Given the description of an element on the screen output the (x, y) to click on. 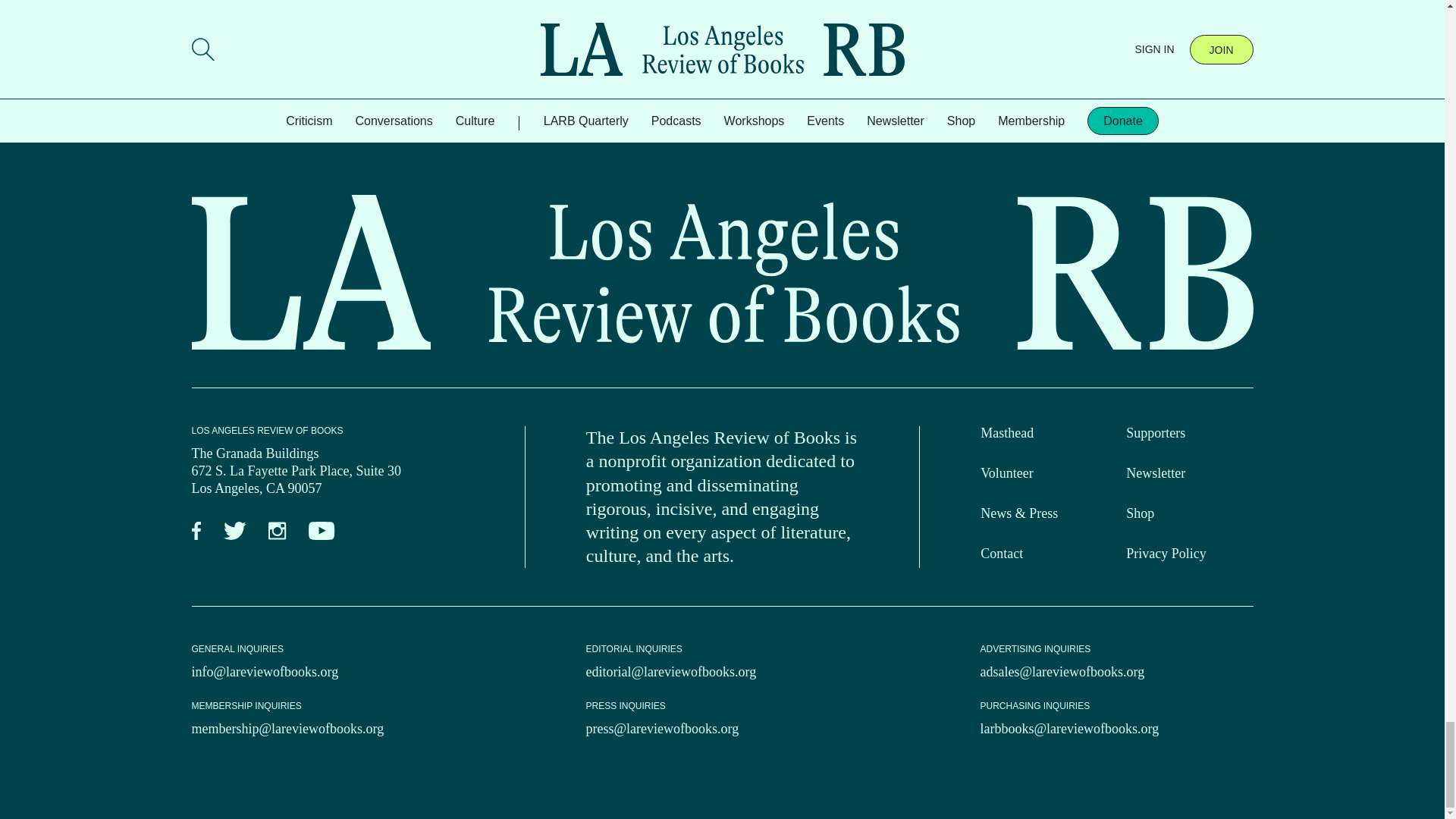
DONATE (321, 26)
YouTube (321, 531)
